Given the description of an element on the screen output the (x, y) to click on. 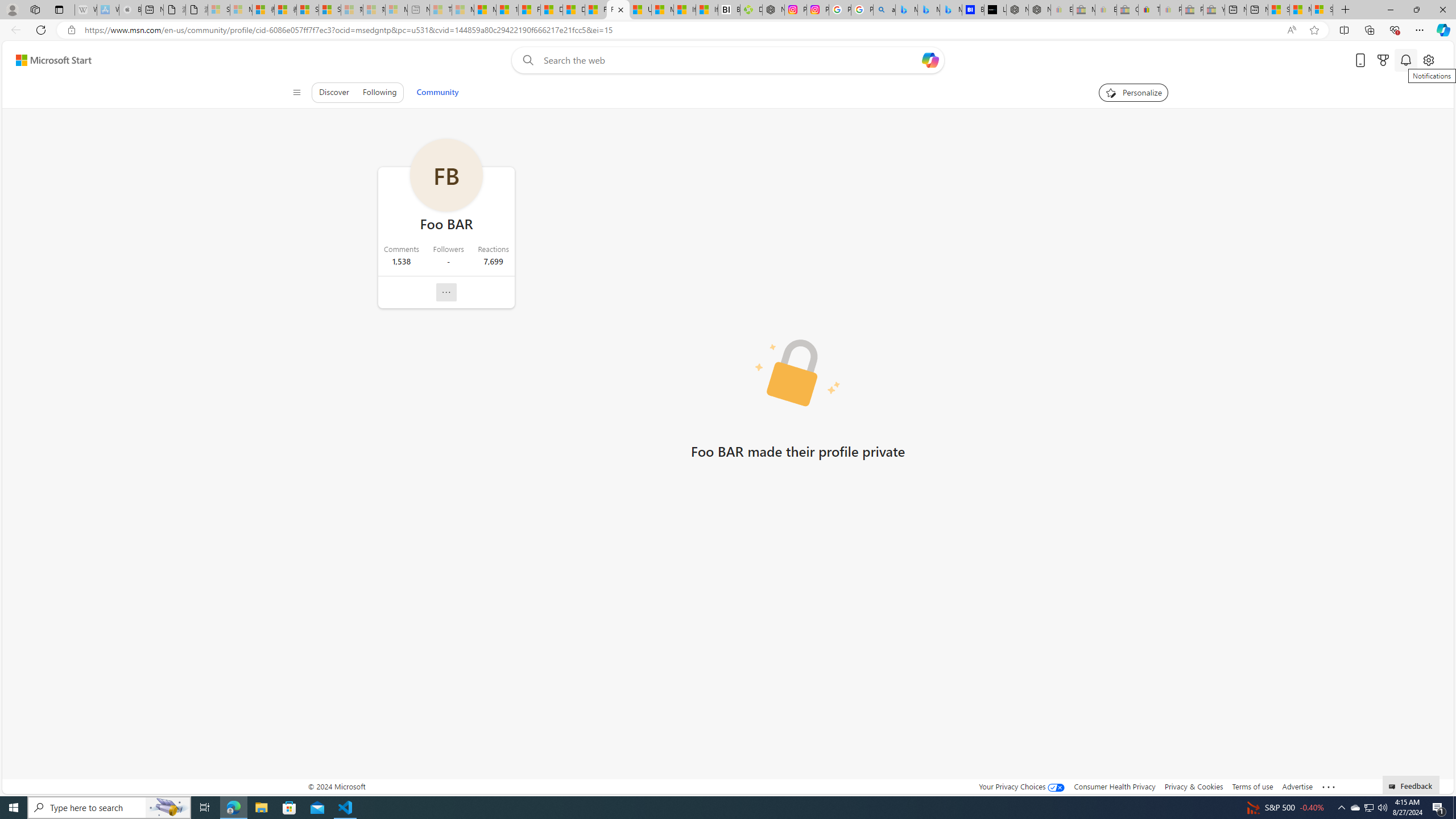
Community (437, 92)
Threats and offensive language policy | eBay (1149, 9)
Microsoft Bing Travel - Shangri-La Hotel Bangkok (950, 9)
Top Stories - MSN - Sleeping (441, 9)
Press Room - eBay Inc. - Sleeping (1192, 9)
